Given the description of an element on the screen output the (x, y) to click on. 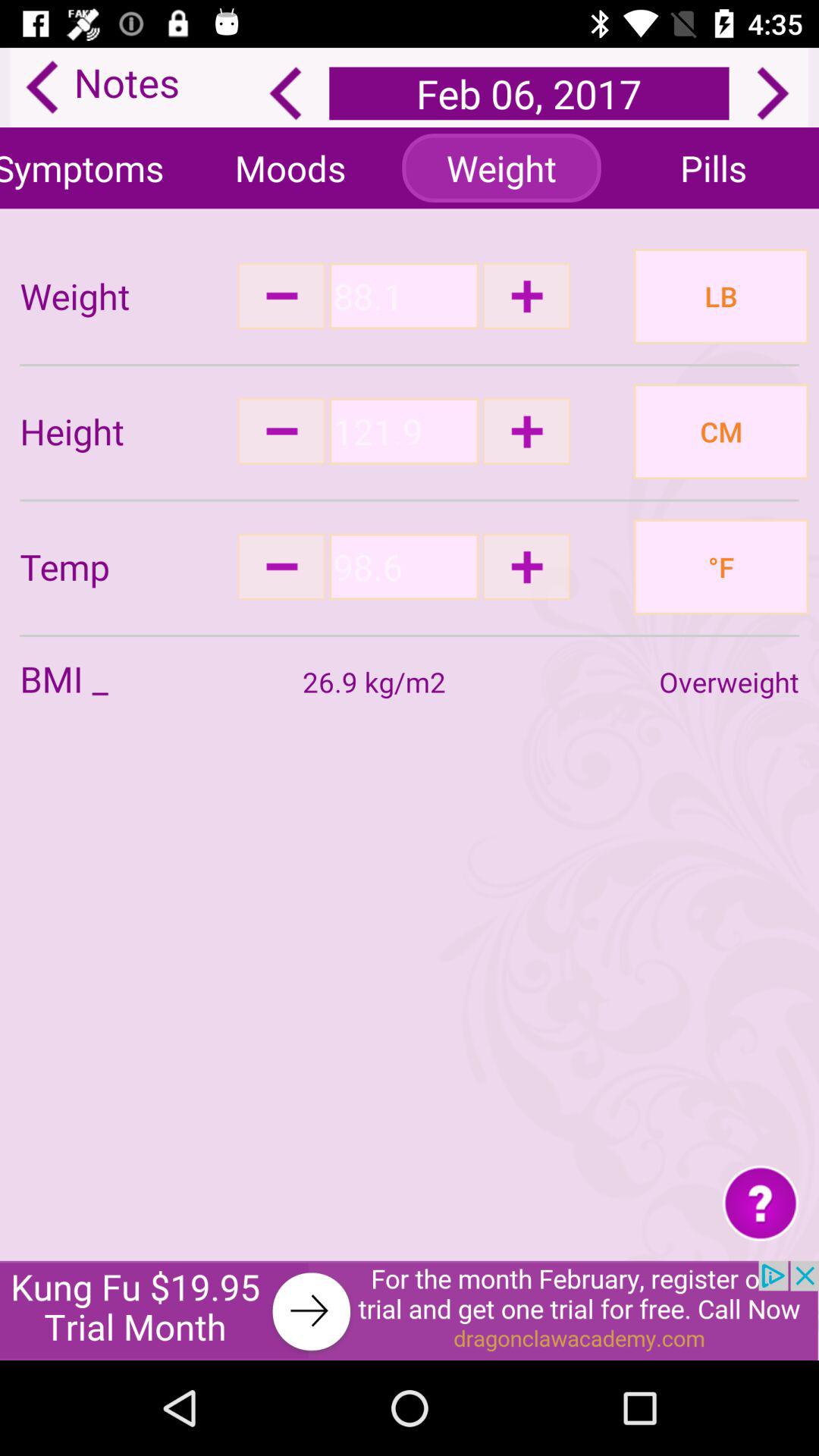
increase input (526, 566)
